Given the description of an element on the screen output the (x, y) to click on. 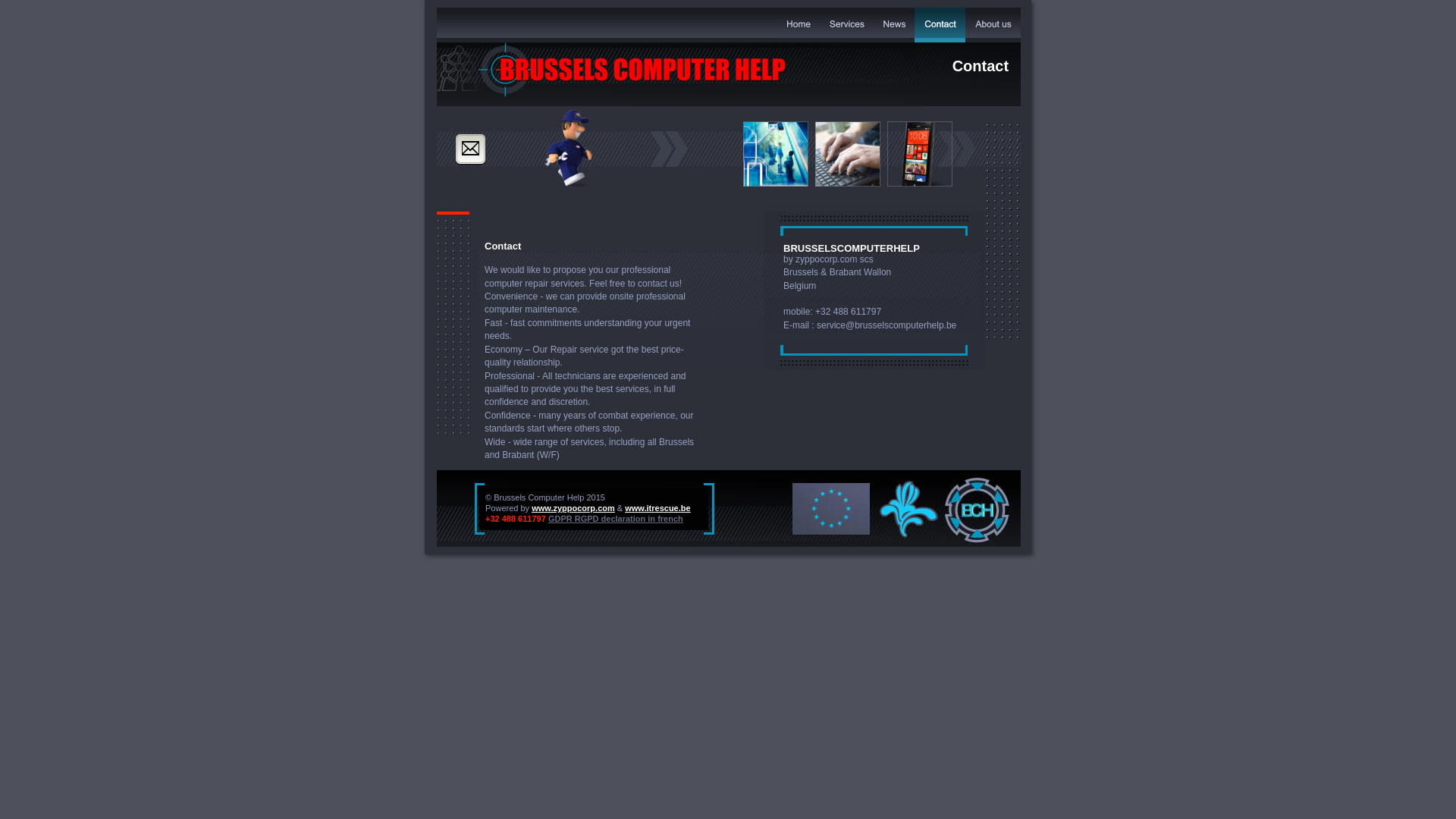
GDPR RGPD declaration in french Element type: text (615, 518)
www.zyppocorp.com Element type: text (573, 507)
www.itrescue.be Element type: text (657, 507)
